Given the description of an element on the screen output the (x, y) to click on. 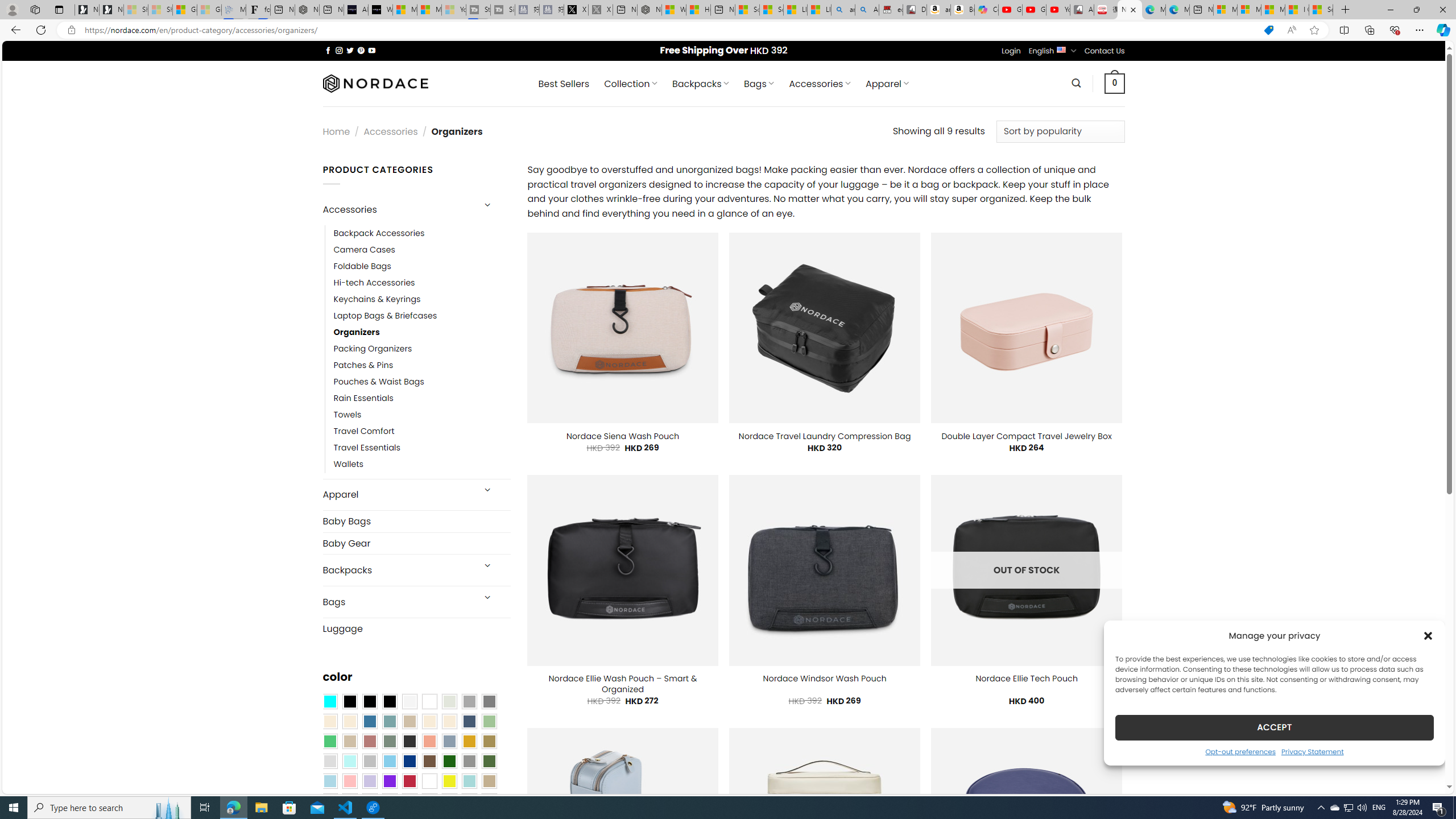
Refresh (40, 29)
I Gained 20 Pounds of Muscle in 30 Days! | Watch (1296, 9)
Aqua (468, 780)
Backpacks (397, 570)
Class: cmplz-close (1428, 635)
Caramel (429, 721)
Blue (369, 721)
Workspaces (34, 9)
Tab actions menu (58, 9)
Follow on YouTube (371, 49)
Brown (429, 761)
